Given the description of an element on the screen output the (x, y) to click on. 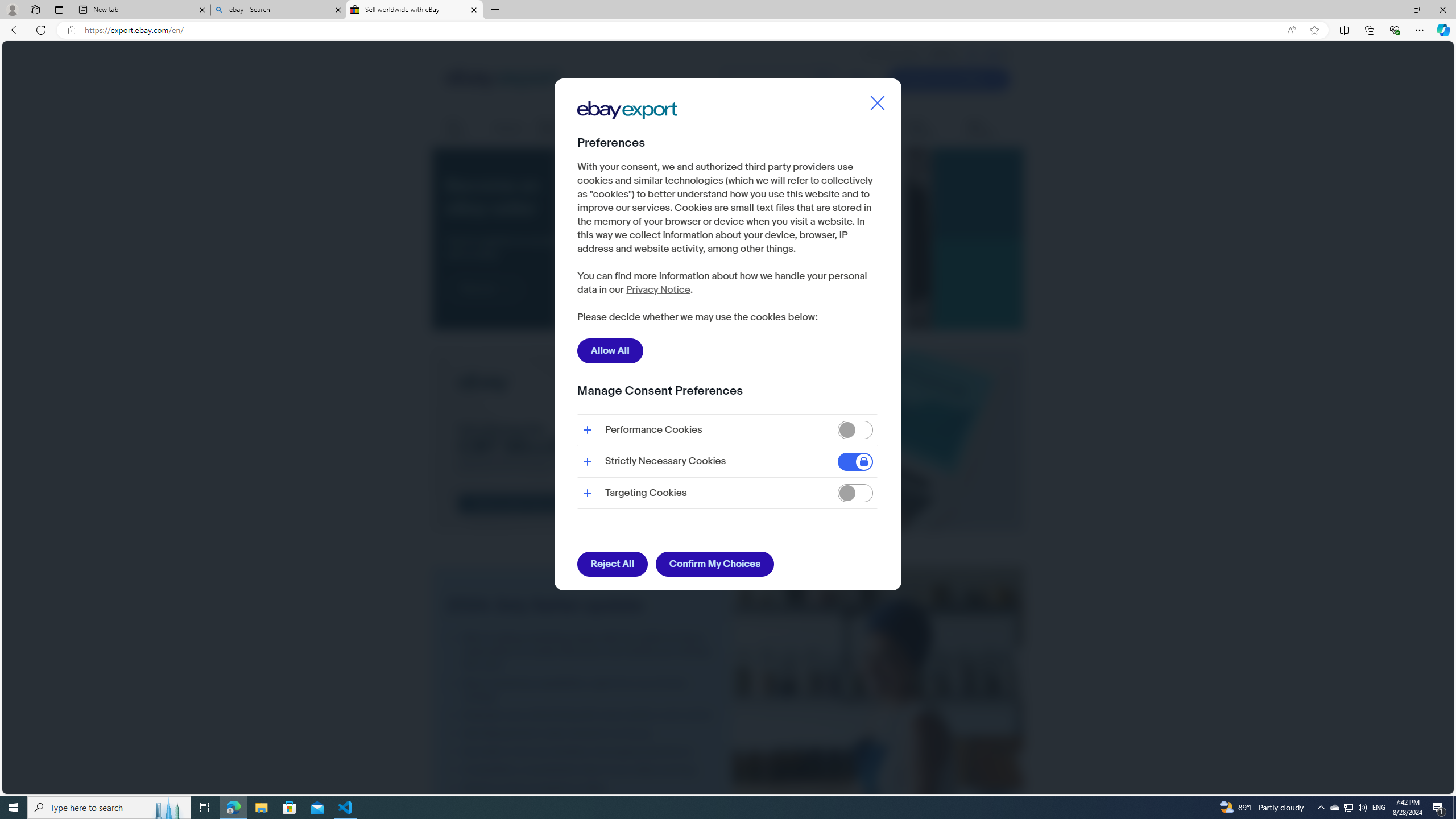
Empower your advertising with more metrics and control (582, 715)
Become an eBay seller (761, 239)
A simplified, consolidated view of your eBay earnings (582, 769)
Class: header__logo (502, 79)
Find out (484, 288)
